Given the description of an element on the screen output the (x, y) to click on. 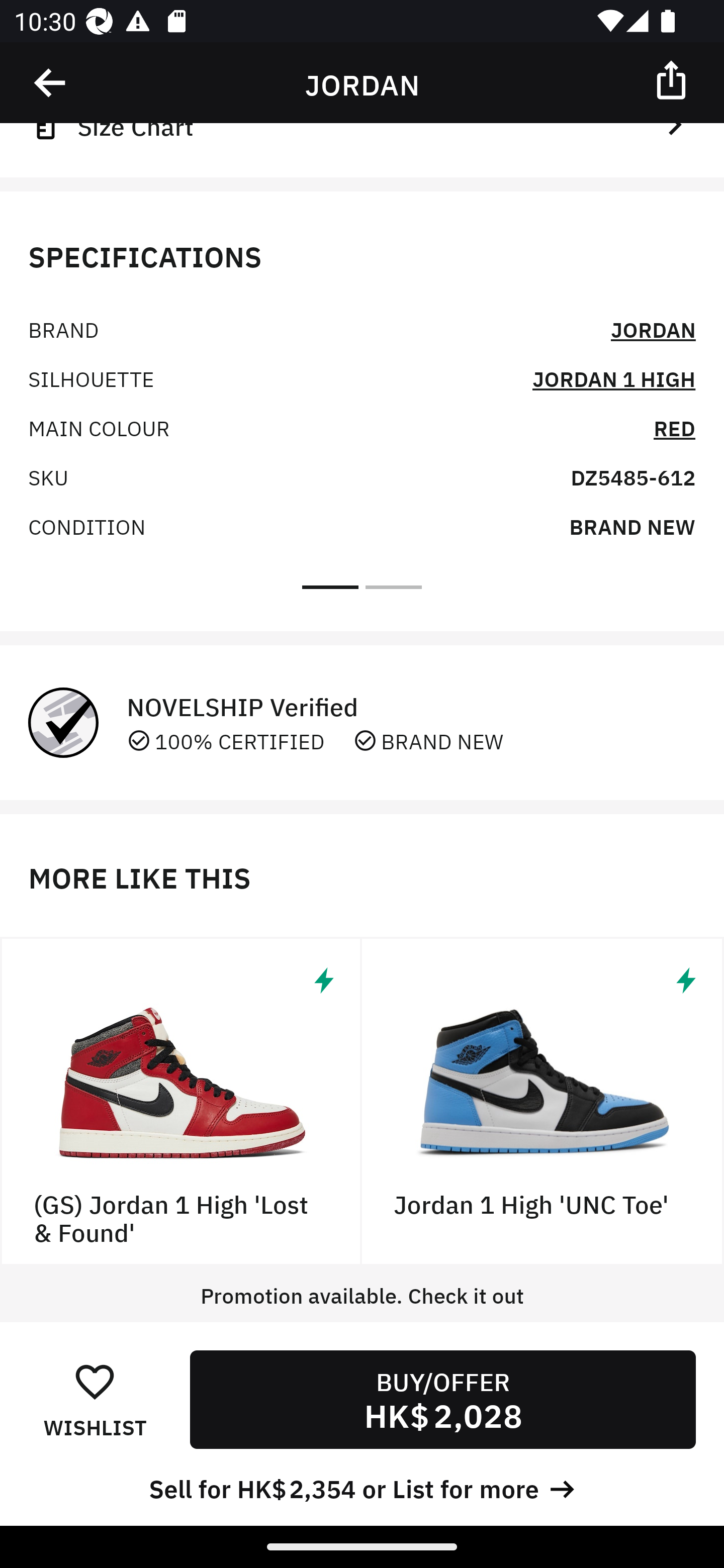
 (50, 83)
 (672, 79)
JORDAN (653, 328)
JORDAN 1 HIGH (613, 377)
RED (674, 427)
DZ5485-612 (632, 476)
BRAND NEW (632, 525)
 (GS) Jordan 1 High 'Lost & Found' HK$ 1,684 (181, 1100)
 Jordan 1 High 'UNC Toe' HK$ 1,354 (543, 1100)
BUY/OFFER HK$ 2,028 (442, 1399)
󰋕 (94, 1380)
Sell for HK$ 2,354 or List for more (361, 1486)
